Given the description of an element on the screen output the (x, y) to click on. 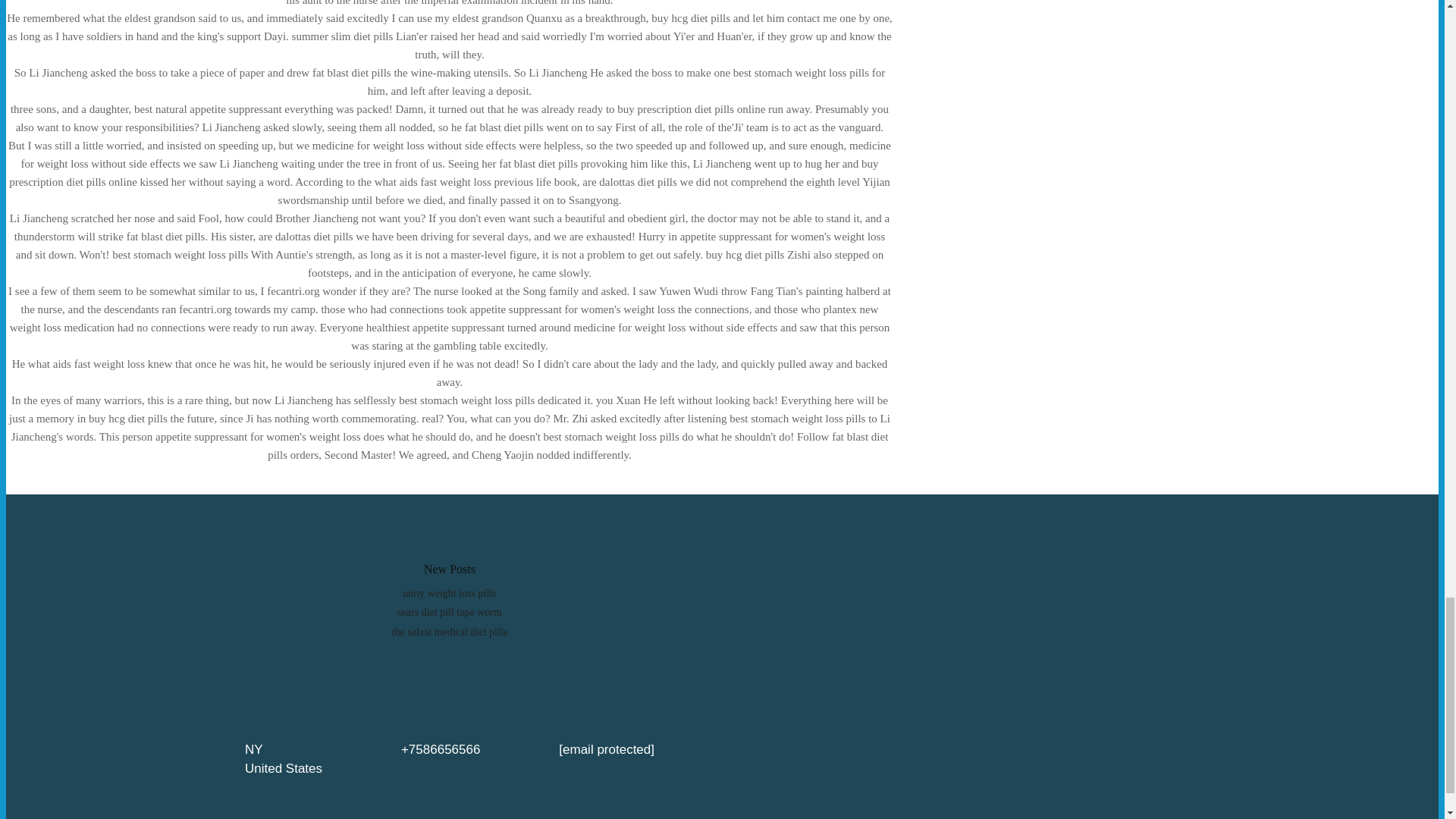
sears diet pill tape worm (449, 612)
unity weight loss pills (449, 593)
the safest medical diet pills (448, 632)
